Given the description of an element on the screen output the (x, y) to click on. 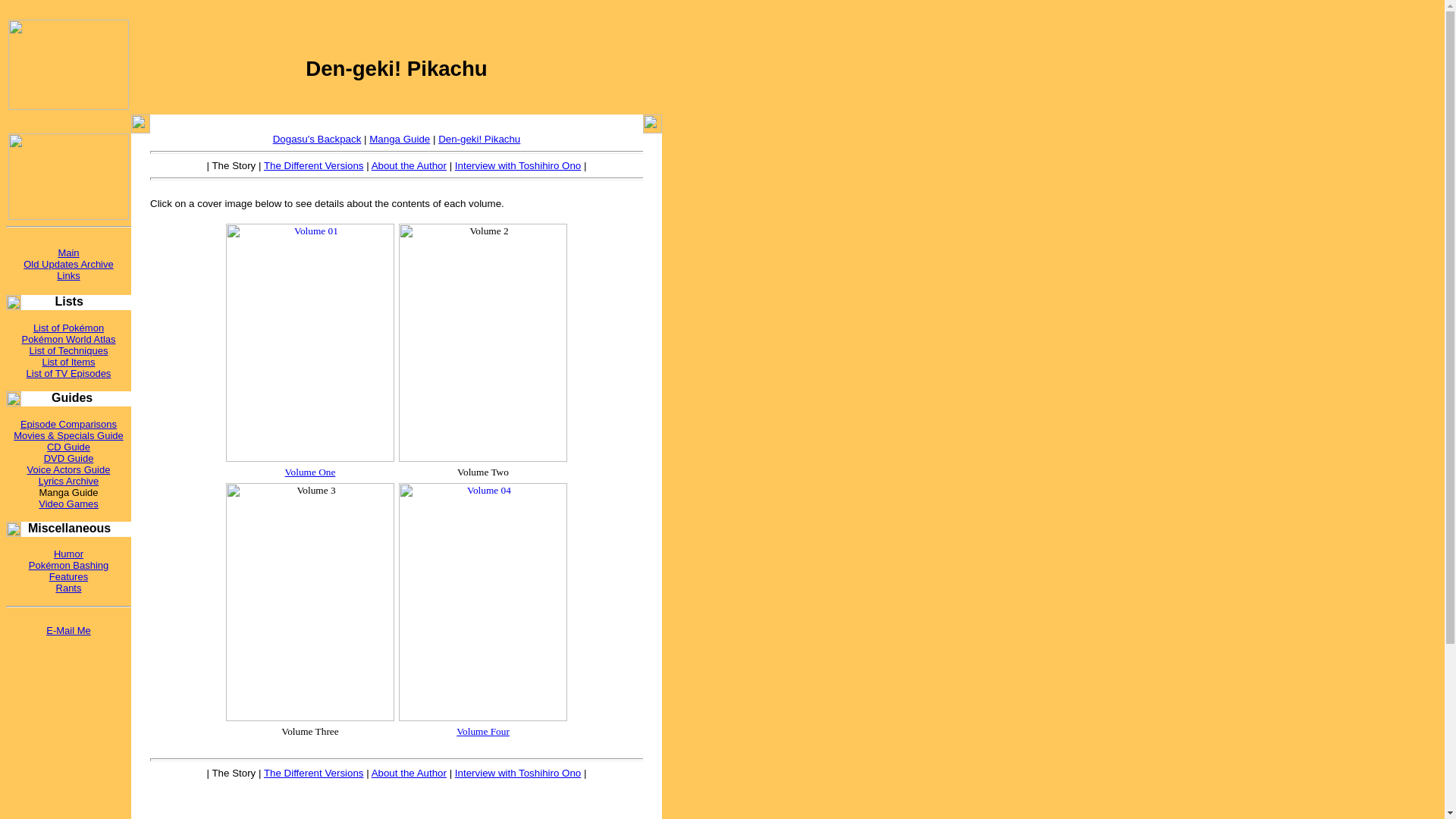
Humor (67, 553)
List of TV Episodes (69, 373)
Old Updates Archive (68, 263)
Features (68, 576)
The Different Versions (313, 772)
Interview with Toshihiro Ono (517, 165)
Den-geki! Pikachu (478, 138)
About the Author (408, 165)
Voice Actors Guide (68, 469)
List of Items (68, 361)
Dogasu's Backpack (317, 138)
Links (68, 275)
List of Techniques (68, 350)
Main (68, 252)
Rants (68, 587)
